Given the description of an element on the screen output the (x, y) to click on. 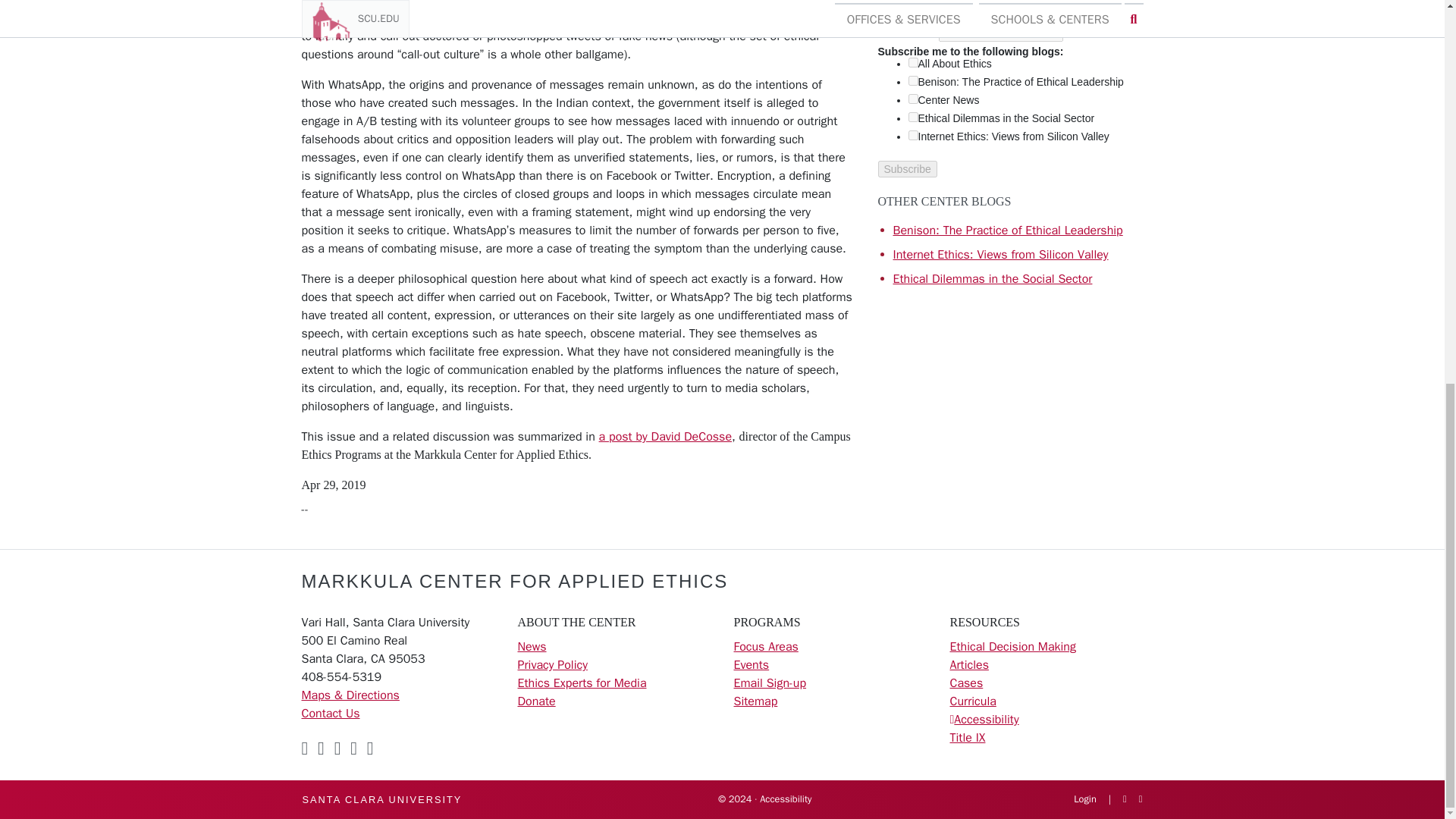
Accessibility (985, 719)
2 (913, 135)
1 (913, 62)
8 (913, 117)
The Office of Equal Opportunity and Title IX (967, 737)
16 (913, 99)
4 (913, 80)
Subscribe (907, 168)
